Given the description of an element on the screen output the (x, y) to click on. 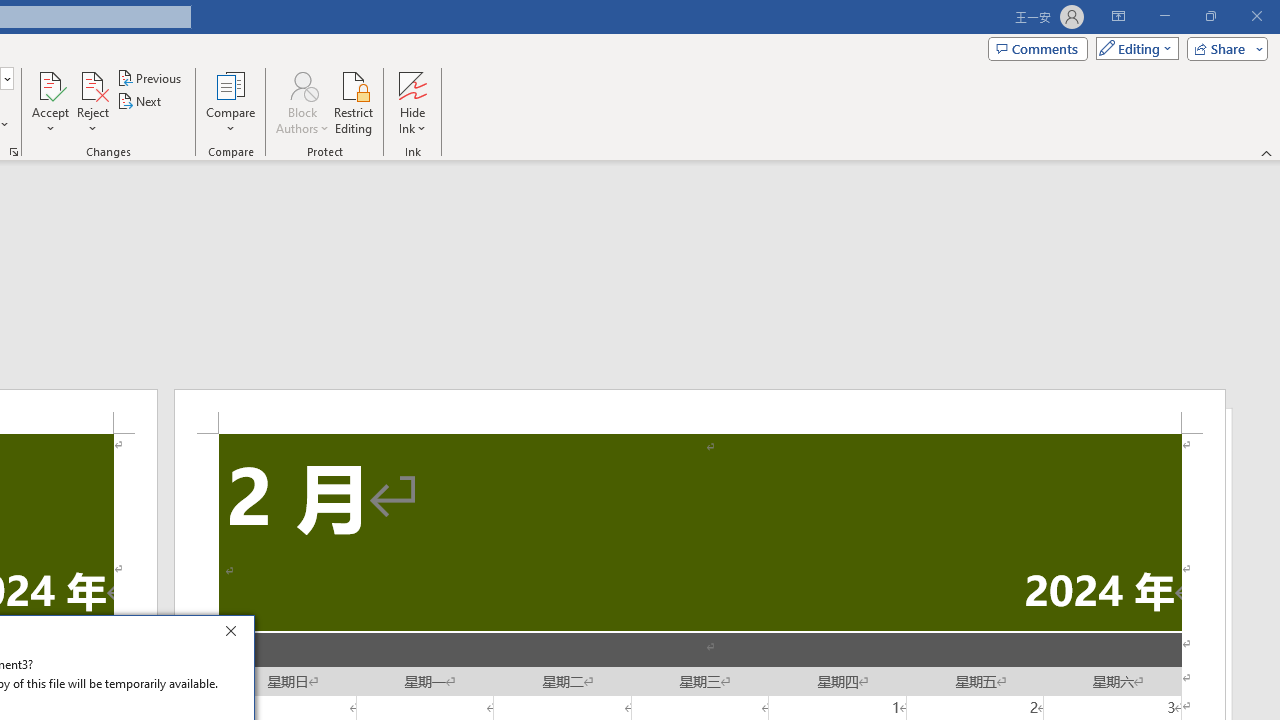
Reject and Move to Next (92, 84)
Restrict Editing (353, 102)
Block Authors (302, 84)
Block Authors (302, 102)
Hide Ink (412, 102)
Compare (230, 102)
Next (140, 101)
Accept (50, 102)
Hide Ink (412, 84)
